Given the description of an element on the screen output the (x, y) to click on. 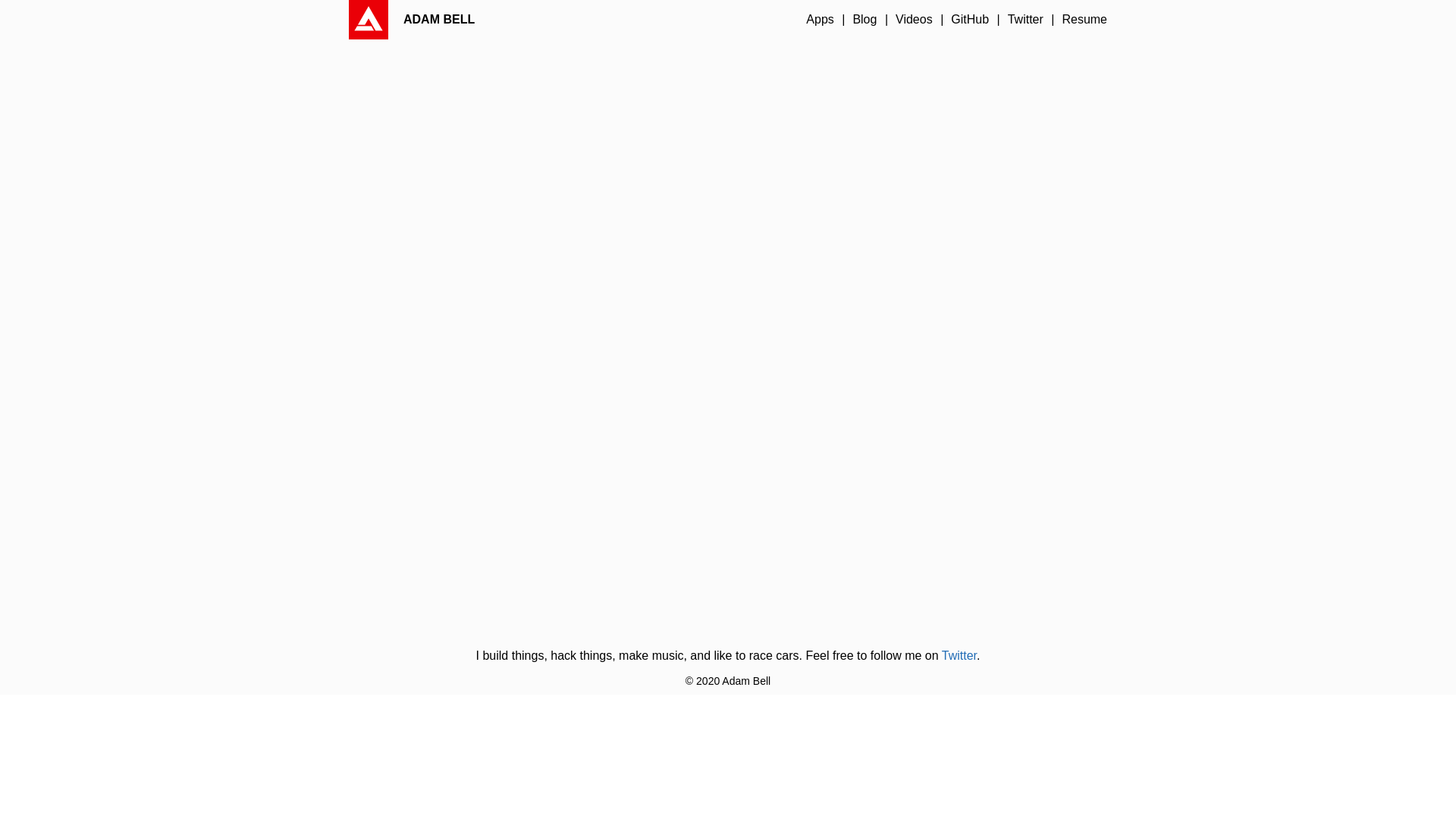
Apps Element type: text (819, 18)
Resume Element type: text (1084, 18)
Blog Element type: text (864, 18)
Videos Element type: text (913, 18)
Twitter Element type: text (958, 655)
Twitter Element type: text (1025, 18)
GitHub Element type: text (969, 18)
